Given the description of an element on the screen output the (x, y) to click on. 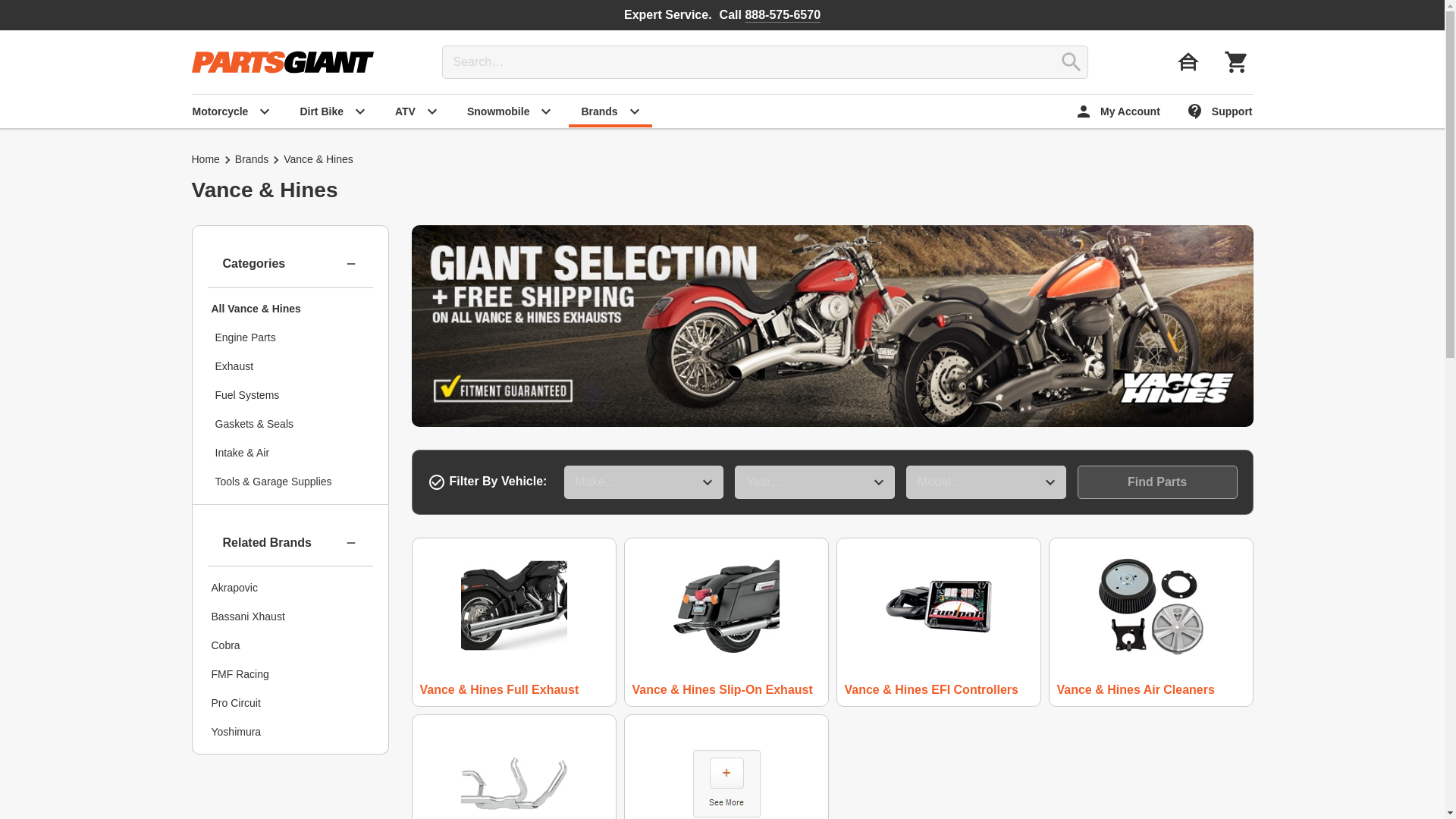
Home (204, 159)
Brands (250, 159)
FMF Racing (290, 674)
Dirt Bike (332, 111)
Parts Giant (281, 61)
Bassani Xhaust (290, 615)
Snowmobile (509, 111)
Pro Circuit (290, 702)
Yoshimura (290, 731)
Fuel Systems (290, 395)
